Given the description of an element on the screen output the (x, y) to click on. 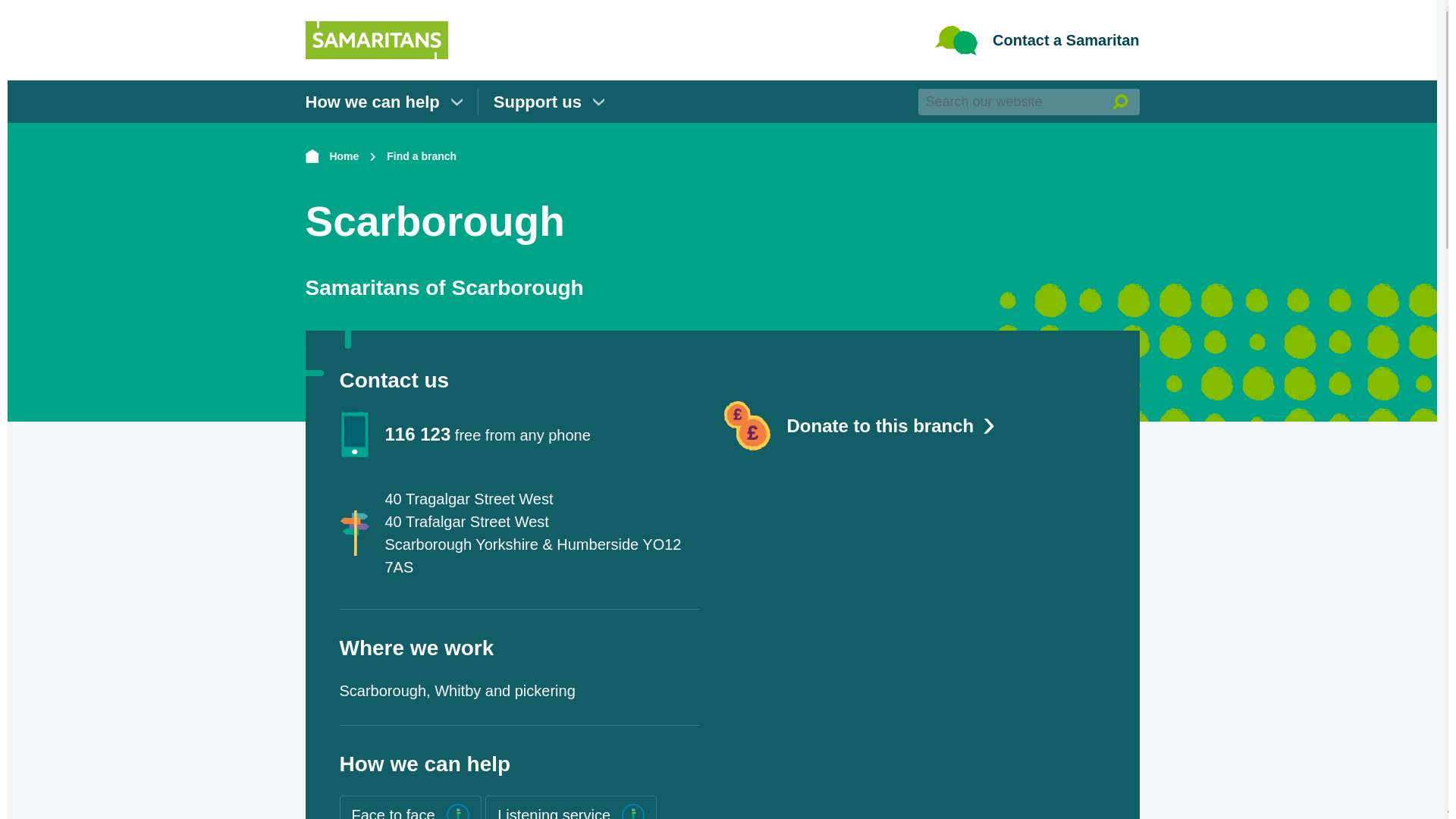
Home (331, 156)
Search (1119, 100)
Support us (548, 100)
Contact a Samaritan (1036, 40)
Samaritans homepage (375, 40)
Samaritans homepage (375, 26)
Find a branch (422, 156)
Home (331, 156)
Find a branch (422, 156)
Donate to this branch (913, 425)
